Given the description of an element on the screen output the (x, y) to click on. 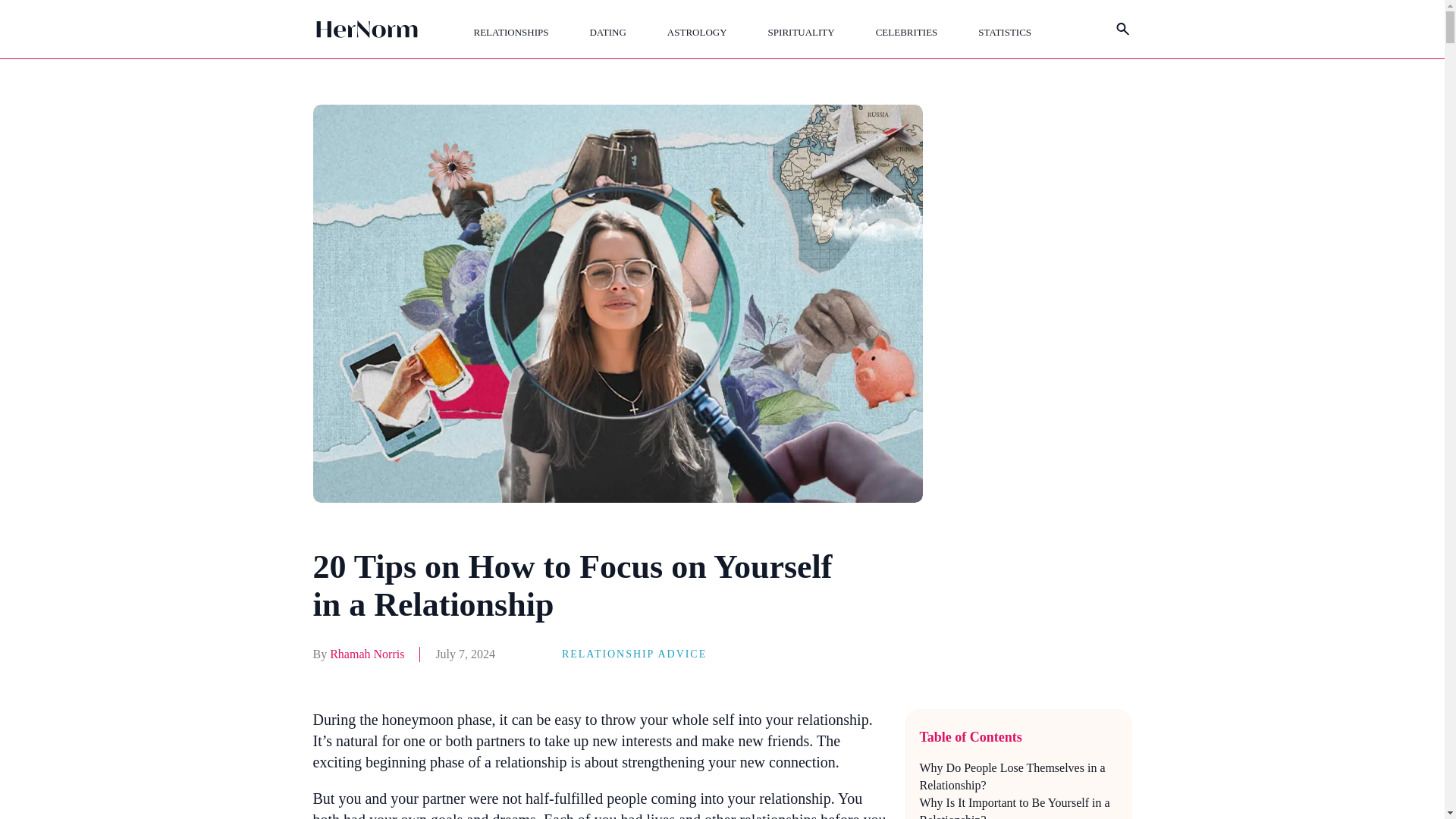
RELATIONSHIPS (510, 32)
RELATIONSHIP ADVICE (634, 654)
CELEBRITIES (906, 32)
DATING (607, 32)
Rhamah Norris (367, 653)
SPIRITUALITY (801, 32)
STATISTICS (1004, 32)
ASTROLOGY (696, 32)
